Given the description of an element on the screen output the (x, y) to click on. 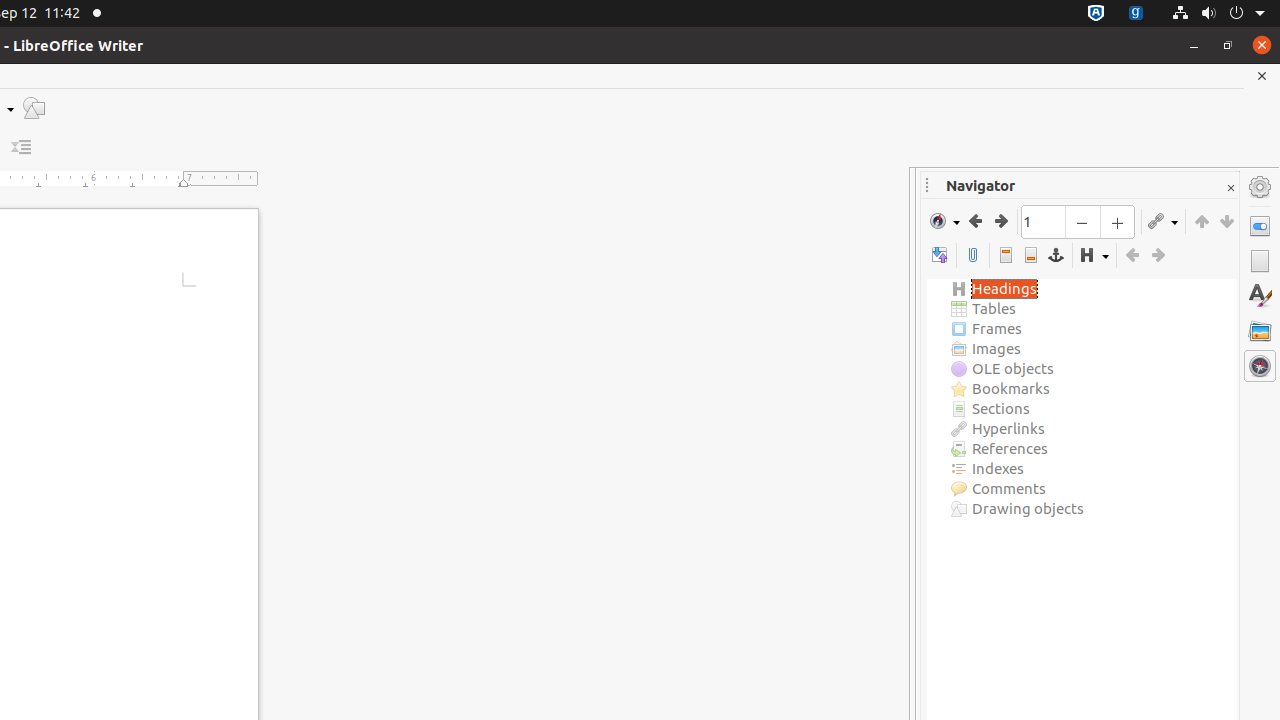
Navigation Element type: push-button (945, 221)
org.kde.StatusNotifierItem-14077-1 Element type: menu (1136, 13)
Page Element type: radio-button (1260, 261)
Heading Levels Shown Element type: push-button (1094, 255)
Demote Level Element type: push-button (1157, 255)
